Given the description of an element on the screen output the (x, y) to click on. 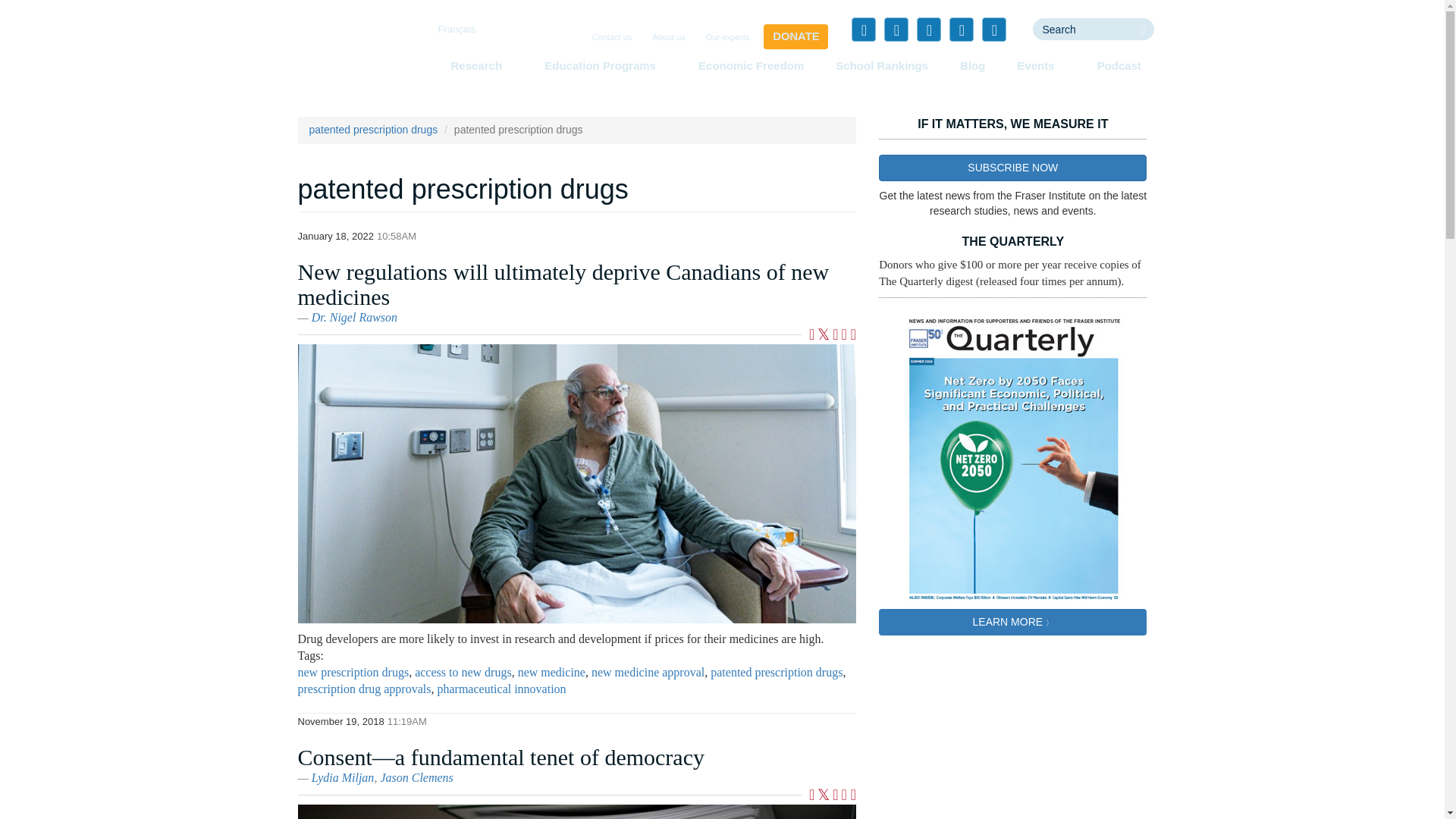
Contact us (612, 37)
Research (481, 65)
School Rankings (882, 65)
Home (352, 56)
About us (668, 37)
DONATE (795, 36)
Enter the terms you wish to search for. (1082, 29)
Our experts (727, 37)
Instagram (993, 29)
